Given the description of an element on the screen output the (x, y) to click on. 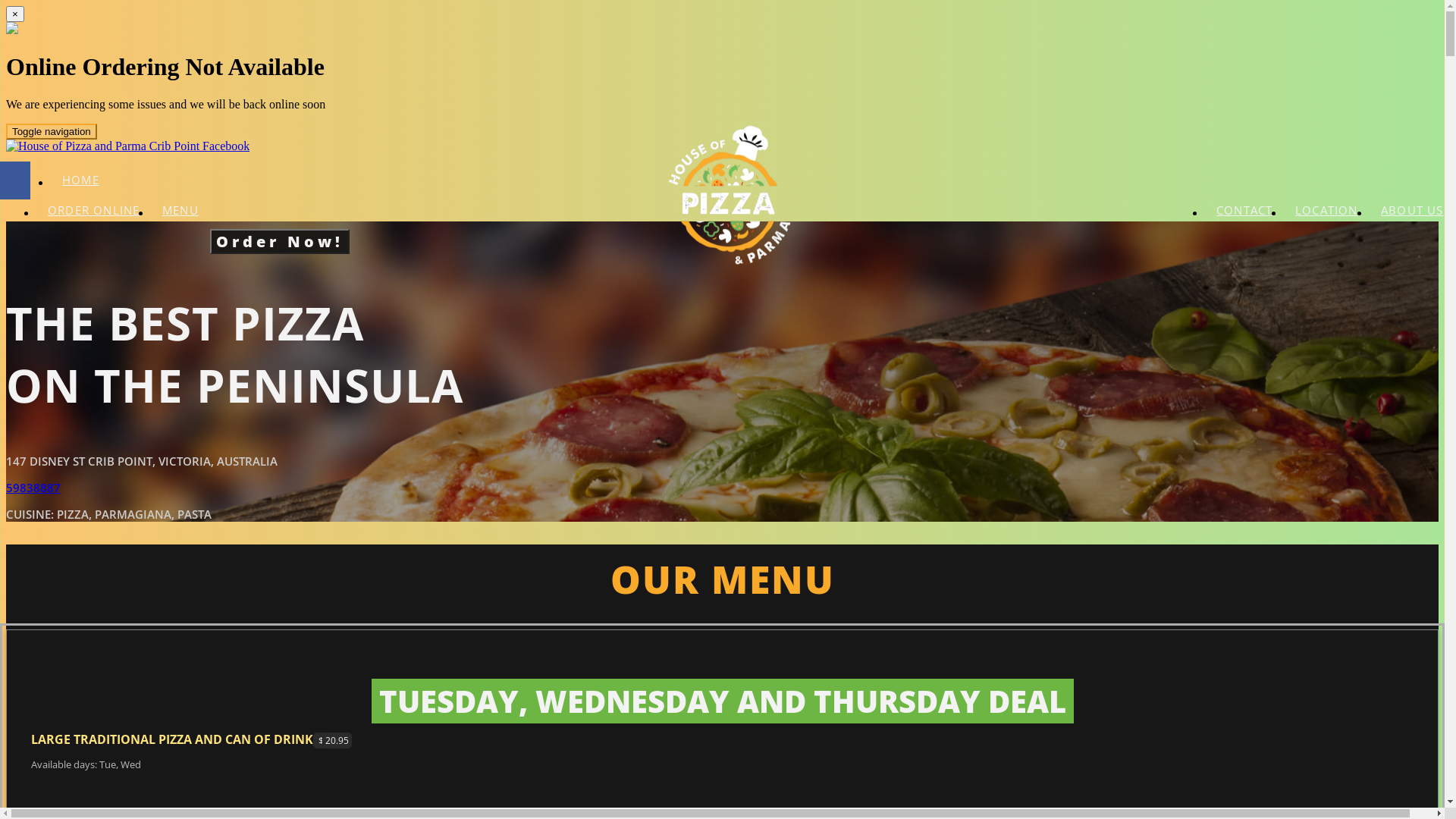
MENU Element type: text (180, 209)
Order Now! Element type: text (279, 241)
Share on Facebook Element type: hover (15, 180)
59838887 Element type: text (33, 487)
ORDER ONLINE Element type: text (93, 209)
LOCATION Element type: text (1326, 209)
Toggle navigation Element type: text (51, 131)
CONTACT Element type: text (1243, 209)
HOME Element type: text (80, 179)
ABOUT US Element type: text (1412, 209)
Order Now! Element type: text (279, 235)
